Given the description of an element on the screen output the (x, y) to click on. 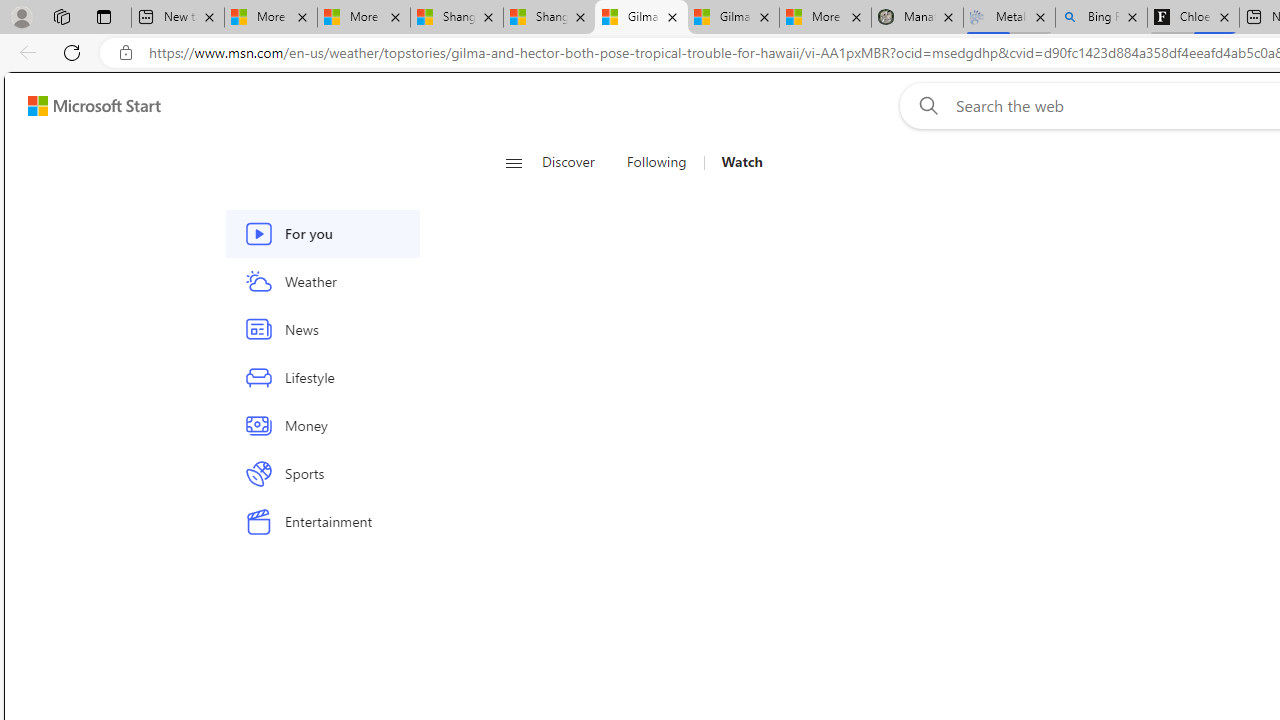
Discover (568, 162)
Skip to content (86, 105)
Gilma and Hector both pose tropical trouble for Hawaii (733, 17)
Shanghai, China weather forecast | Microsoft Weather (549, 17)
Manatee Mortality Statistics | FWC (916, 17)
Open navigation menu (513, 162)
Chloe Sorvino (1193, 17)
Following (656, 162)
Web search (924, 105)
